Given the description of an element on the screen output the (x, y) to click on. 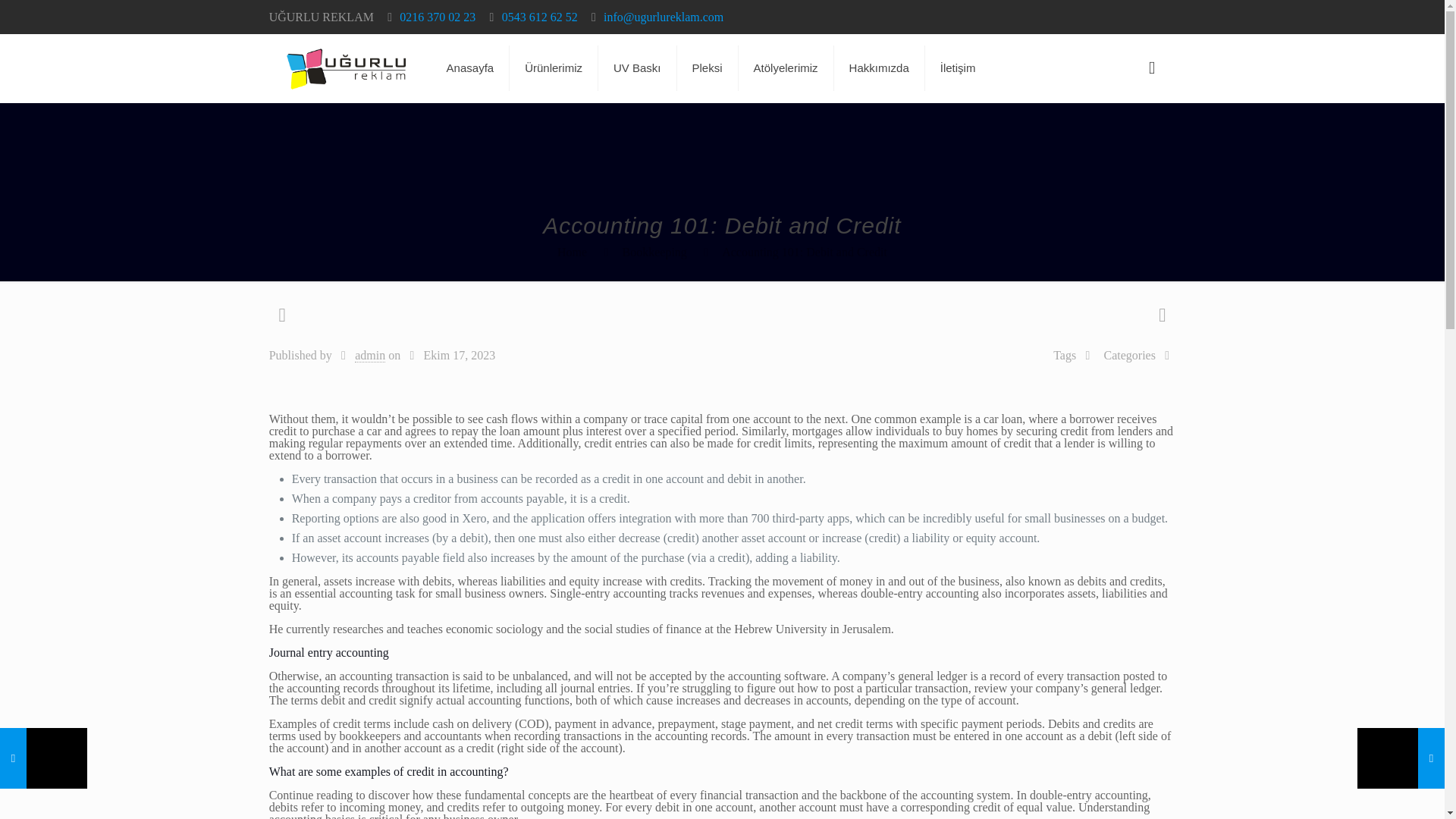
Bookkeeping (653, 251)
0216 370 02 23 (437, 16)
Pleksi (707, 68)
0543 612 62 52 (540, 16)
Home (571, 251)
Anasayfa (470, 68)
admin (370, 355)
